Given the description of an element on the screen output the (x, y) to click on. 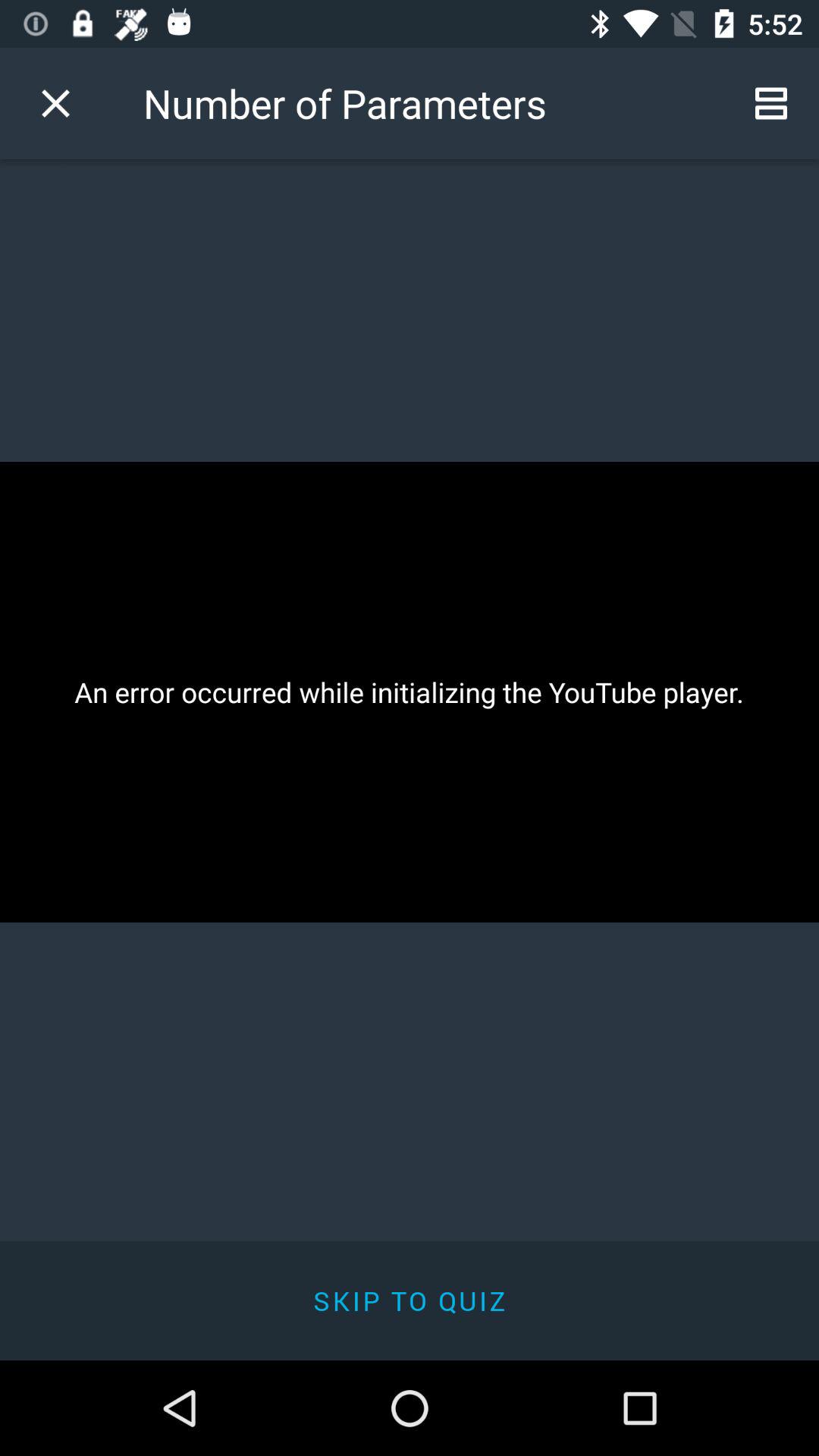
click icon at the top left corner (55, 103)
